Given the description of an element on the screen output the (x, y) to click on. 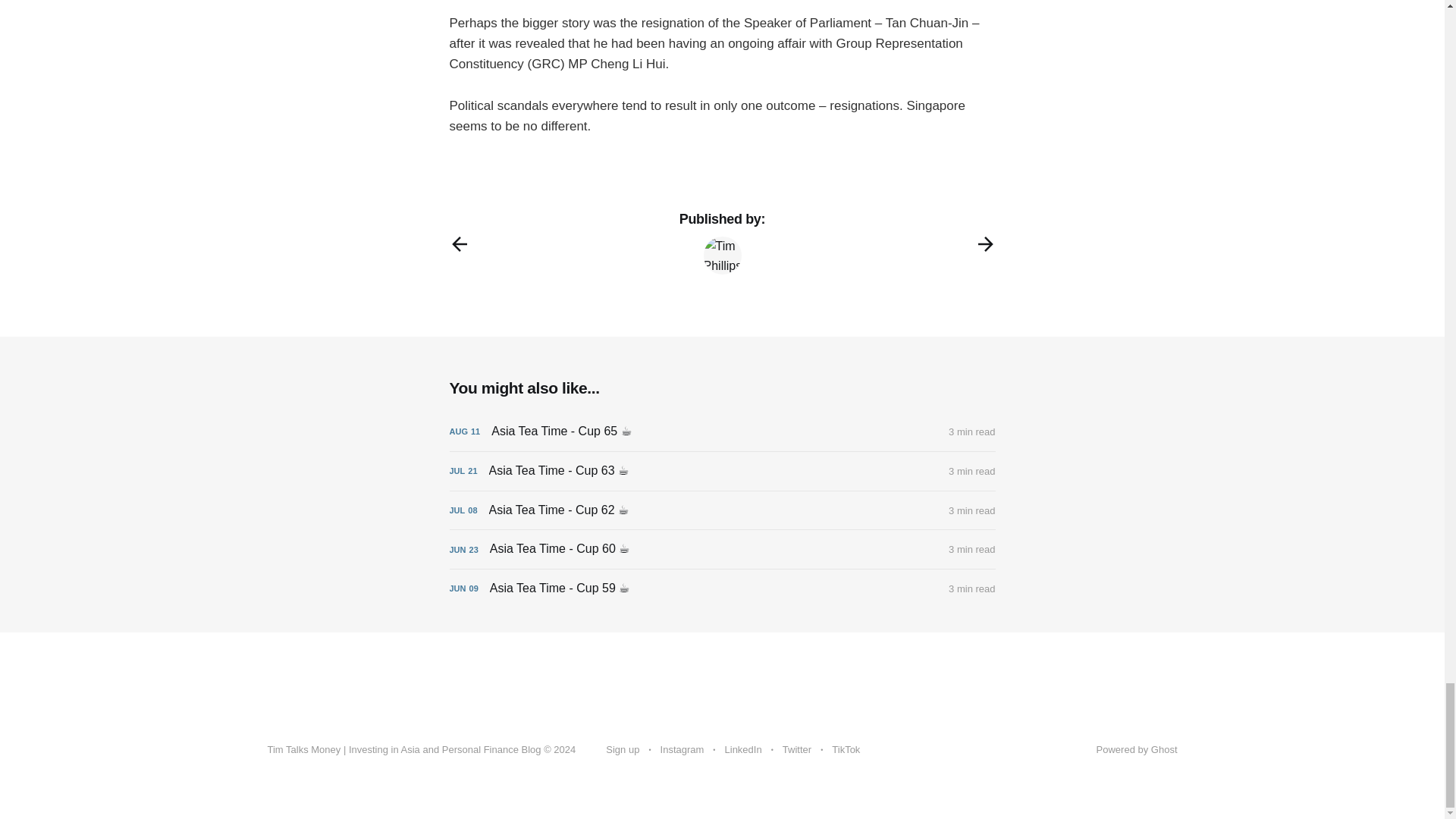
LinkedIn (743, 750)
Twitter (796, 750)
Powered by Ghost (1136, 749)
TikTok (845, 750)
Instagram (682, 750)
Sign up (622, 750)
